Given the description of an element on the screen output the (x, y) to click on. 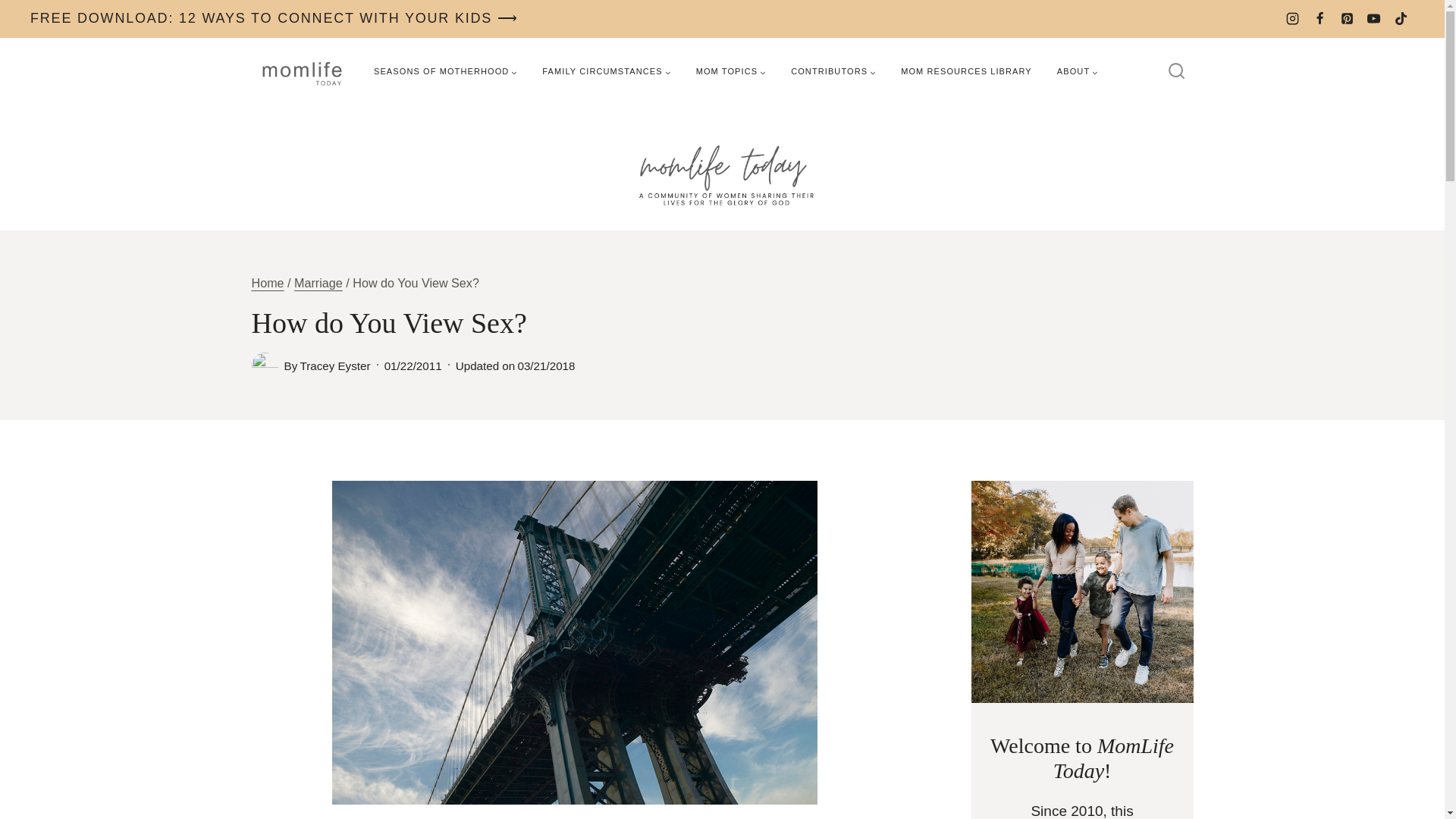
MOM TOPICS (730, 71)
FAMILY CIRCUMSTANCES (605, 71)
MOM RESOURCES LIBRARY (966, 71)
CONTRIBUTORS (833, 71)
SEASONS OF MOTHERHOOD (445, 71)
